Given the description of an element on the screen output the (x, y) to click on. 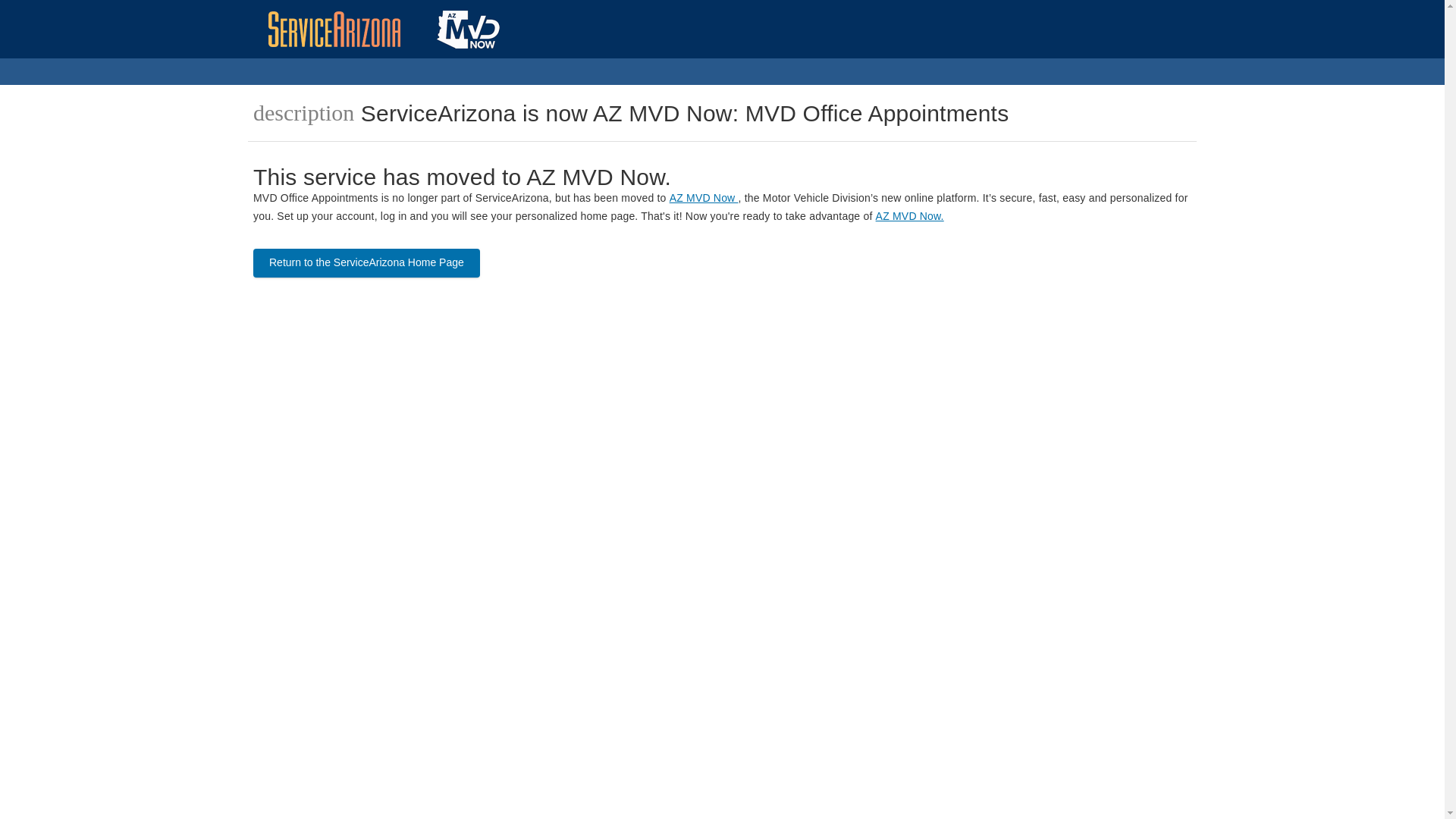
Return to the ServiceArizona Home Page (366, 262)
AZ MVD Now (703, 197)
AZ MVD Now. (909, 215)
